Given the description of an element on the screen output the (x, y) to click on. 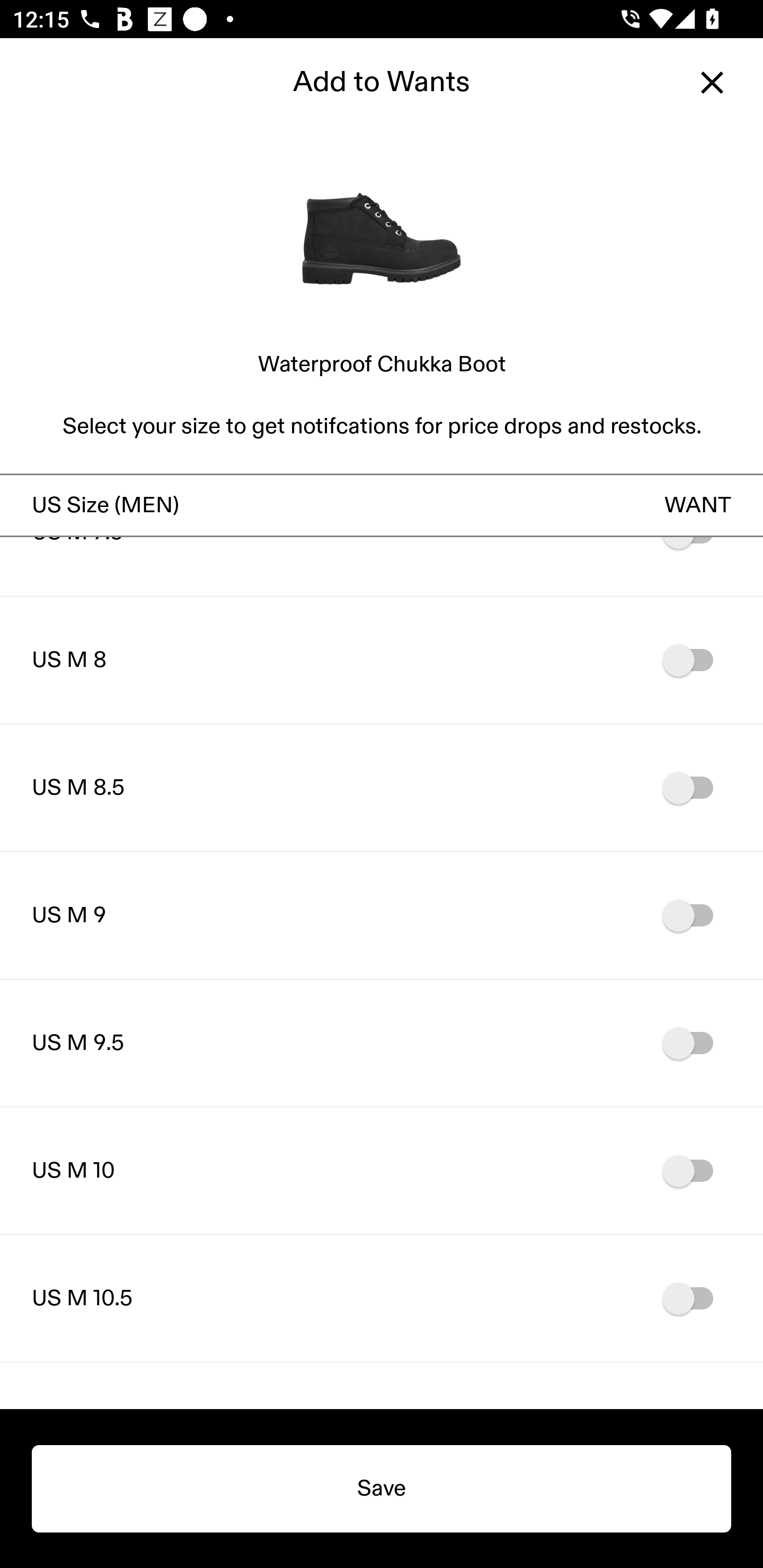
Save (381, 1488)
